Given the description of an element on the screen output the (x, y) to click on. 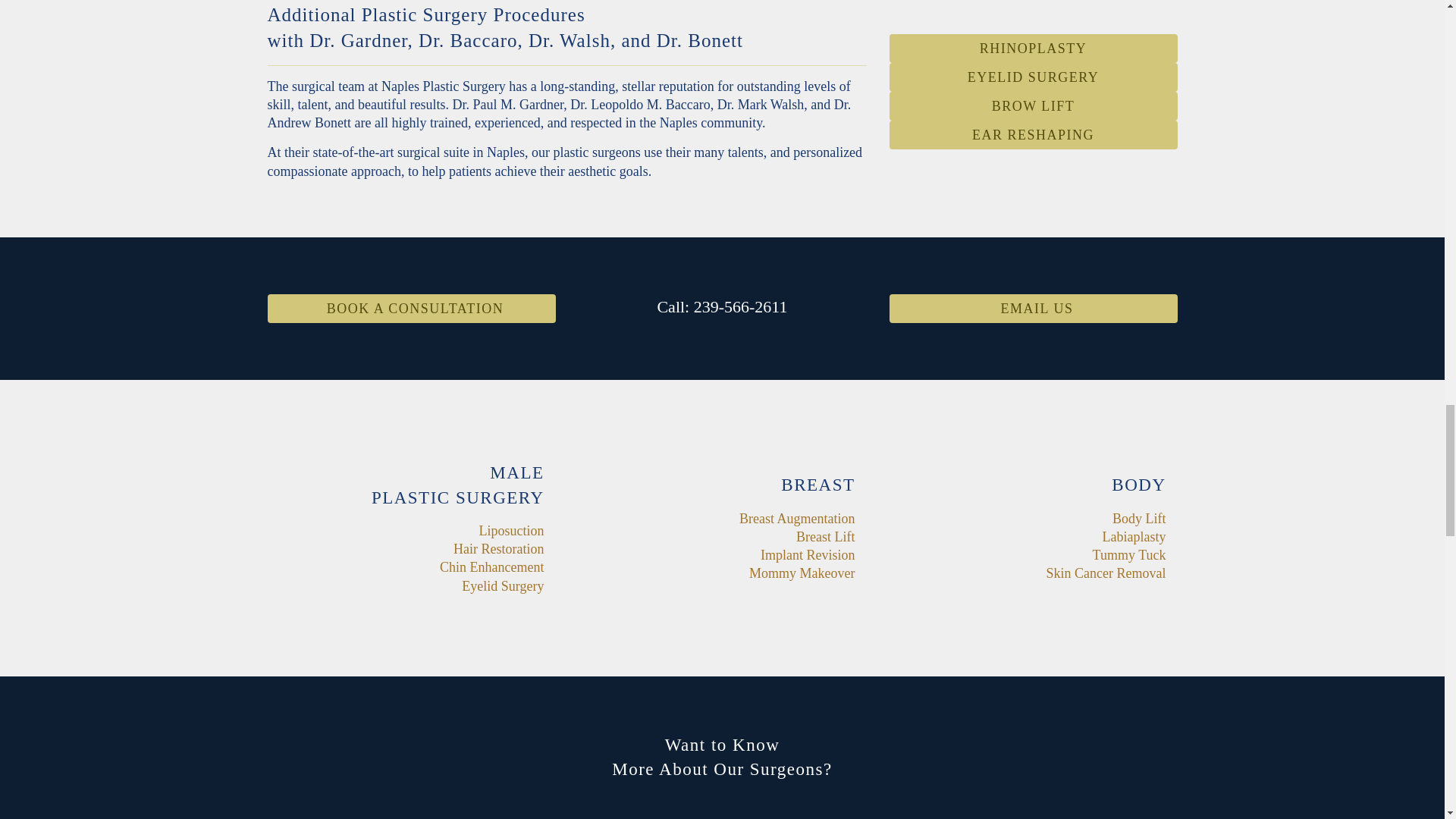
Email Us (1032, 308)
Brow Lift (1033, 105)
Ear Reshaping (1033, 134)
Rhinoplasty (1033, 48)
Eyelid Surgery (1033, 77)
Email Us (410, 308)
